Given the description of an element on the screen output the (x, y) to click on. 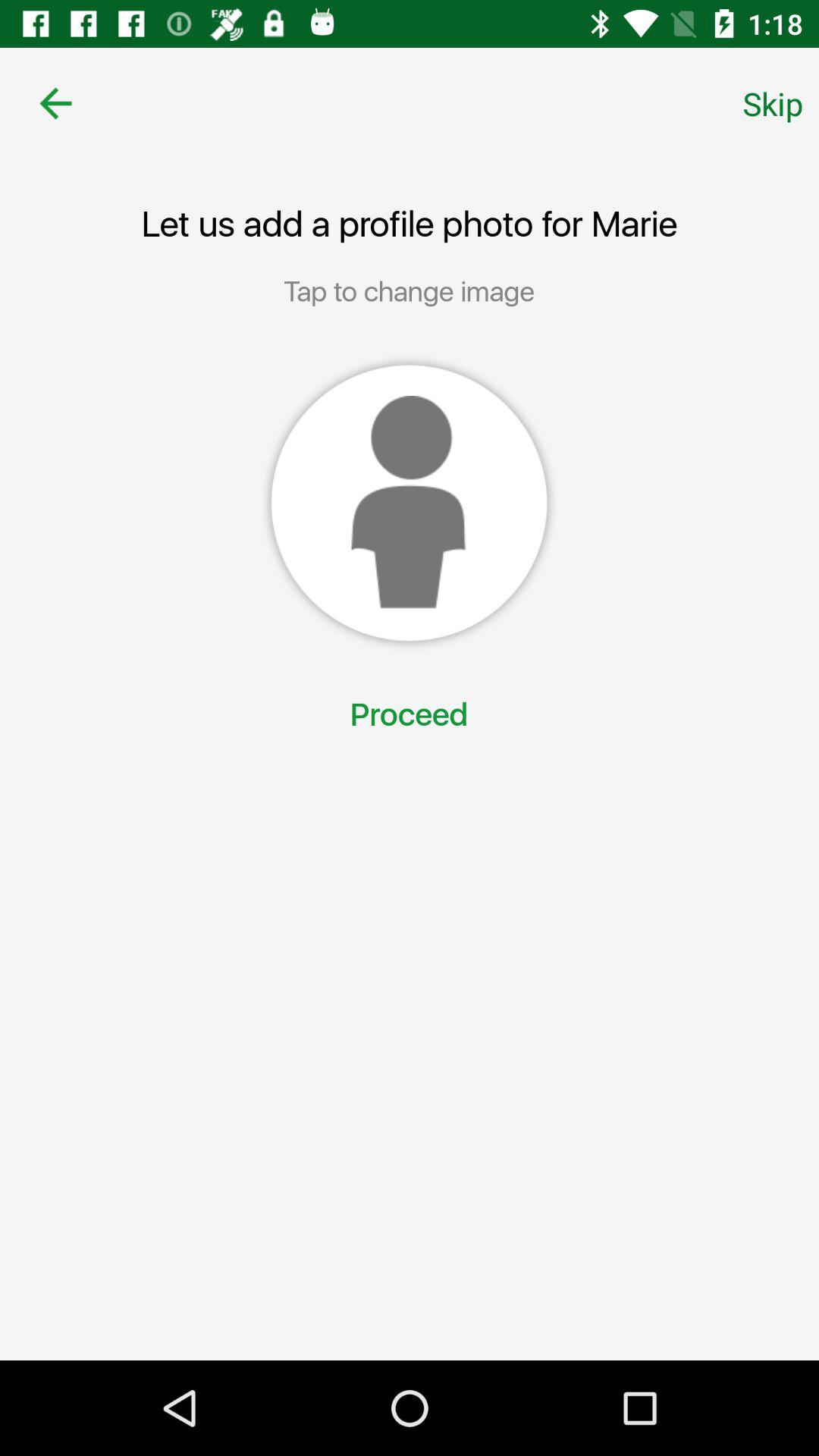
choose a profile image (408, 502)
